Given the description of an element on the screen output the (x, y) to click on. 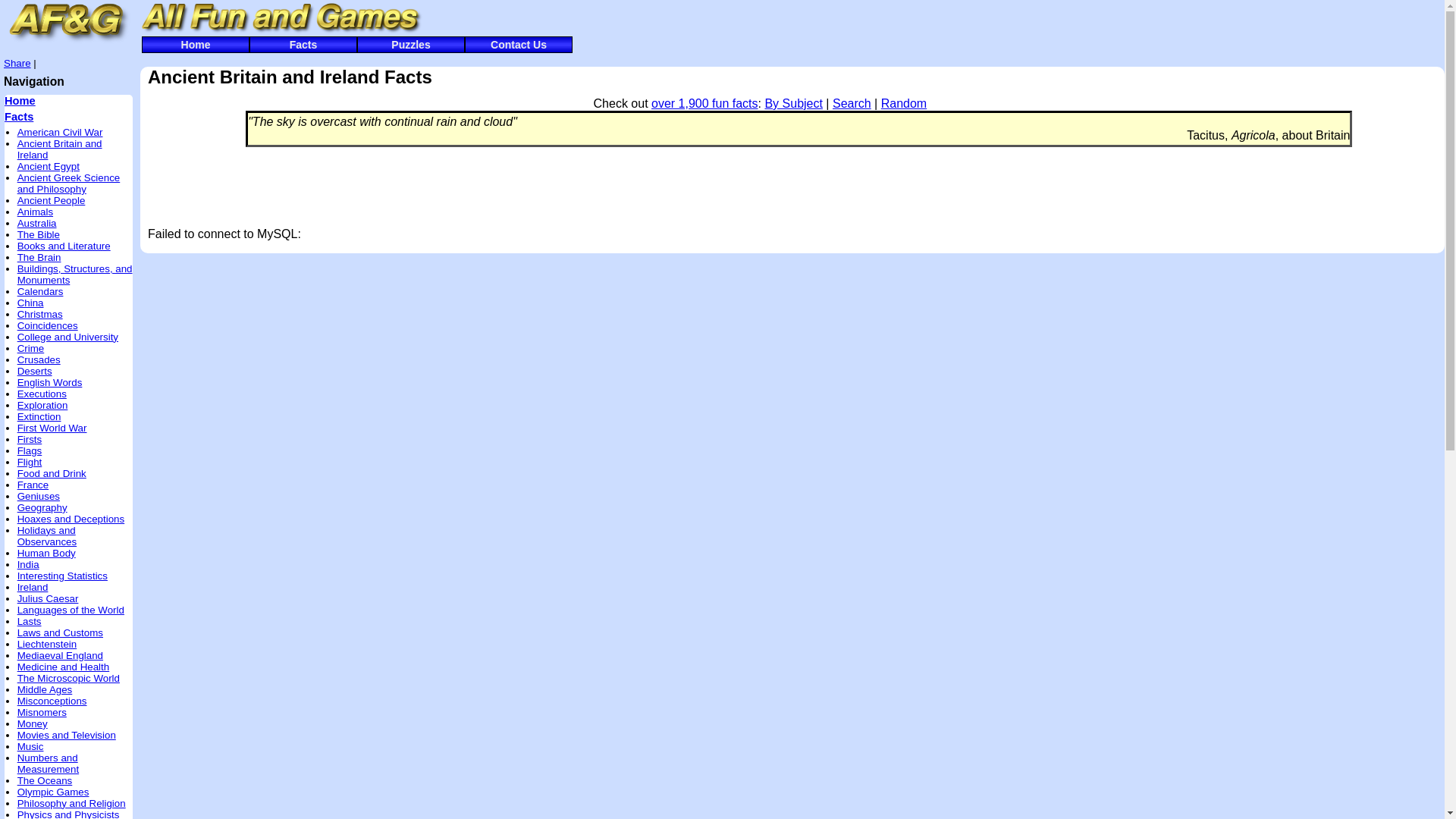
Ancient People (51, 200)
Puzzles (410, 44)
The Bible (38, 234)
Home (19, 101)
American Civil War (60, 132)
Buildings, Structures, and Monuments (74, 273)
Ancient Egypt (48, 165)
Ancient Britain and Ireland (59, 149)
Calendars (40, 291)
Coincidences (47, 325)
Facts (18, 116)
Christmas (39, 314)
The Brain (39, 256)
Ancient Greek Science and Philosophy (68, 182)
Facts (302, 44)
